Given the description of an element on the screen output the (x, y) to click on. 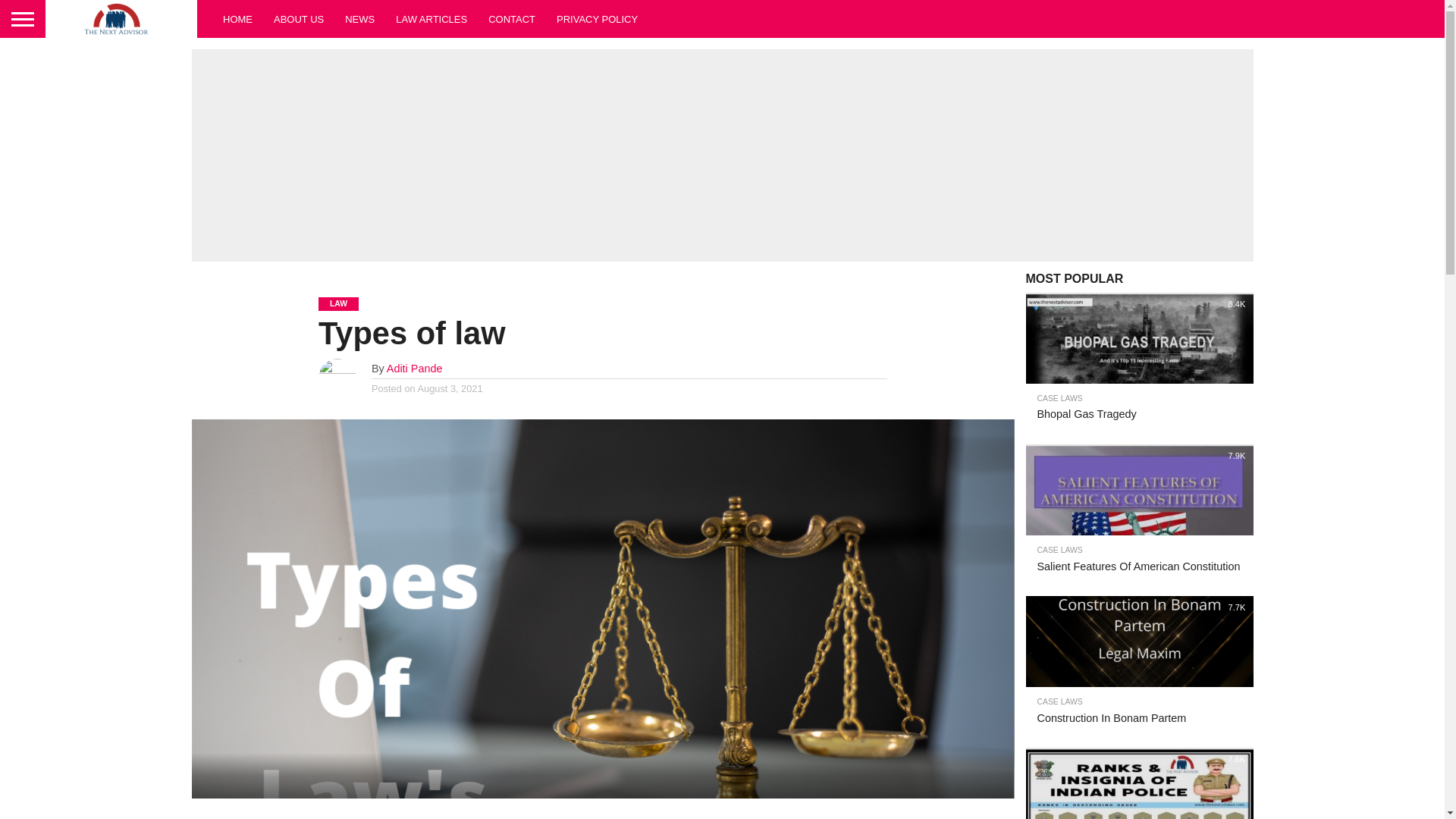
Aditi Pande (414, 368)
CONTACT (511, 18)
NEWS (359, 18)
ABOUT US (298, 18)
Posts by Aditi Pande (414, 368)
HOME (237, 18)
LAW ARTICLES (431, 18)
PRIVACY POLICY (596, 18)
